Given the description of an element on the screen output the (x, y) to click on. 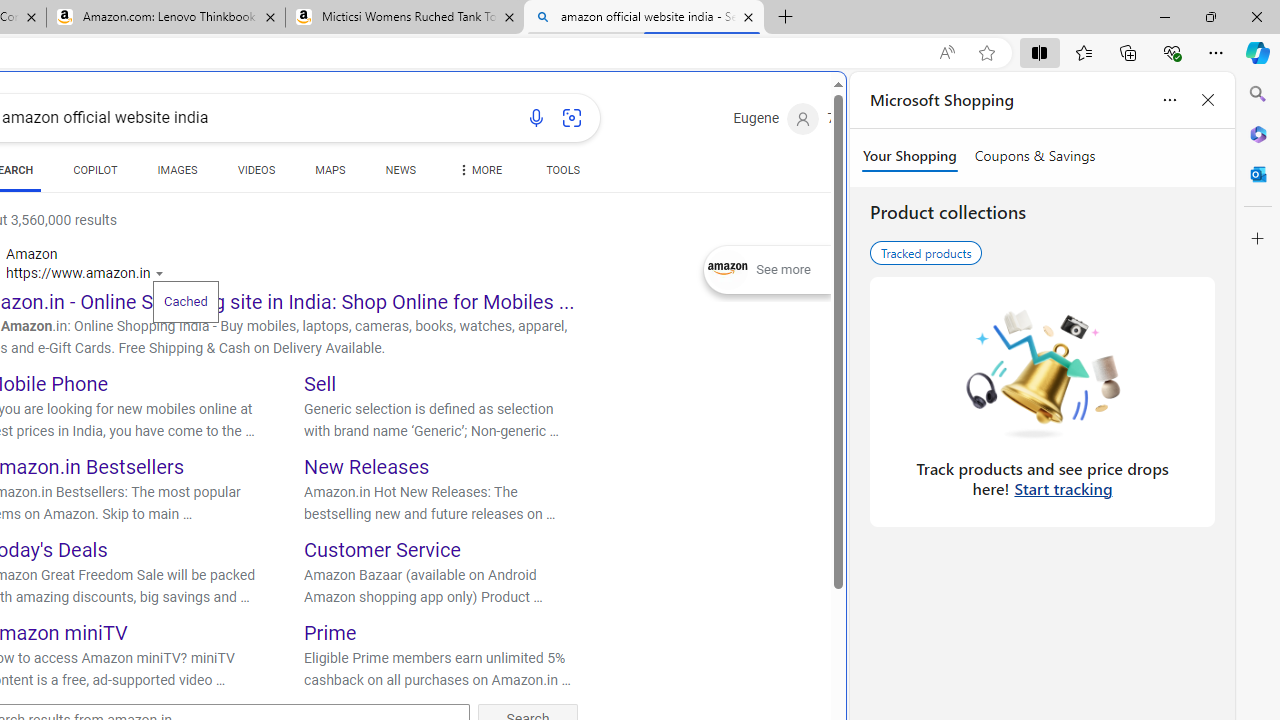
NEWS (400, 173)
New Releases (367, 466)
Microsoft Rewards 72 (856, 119)
